Given the description of an element on the screen output the (x, y) to click on. 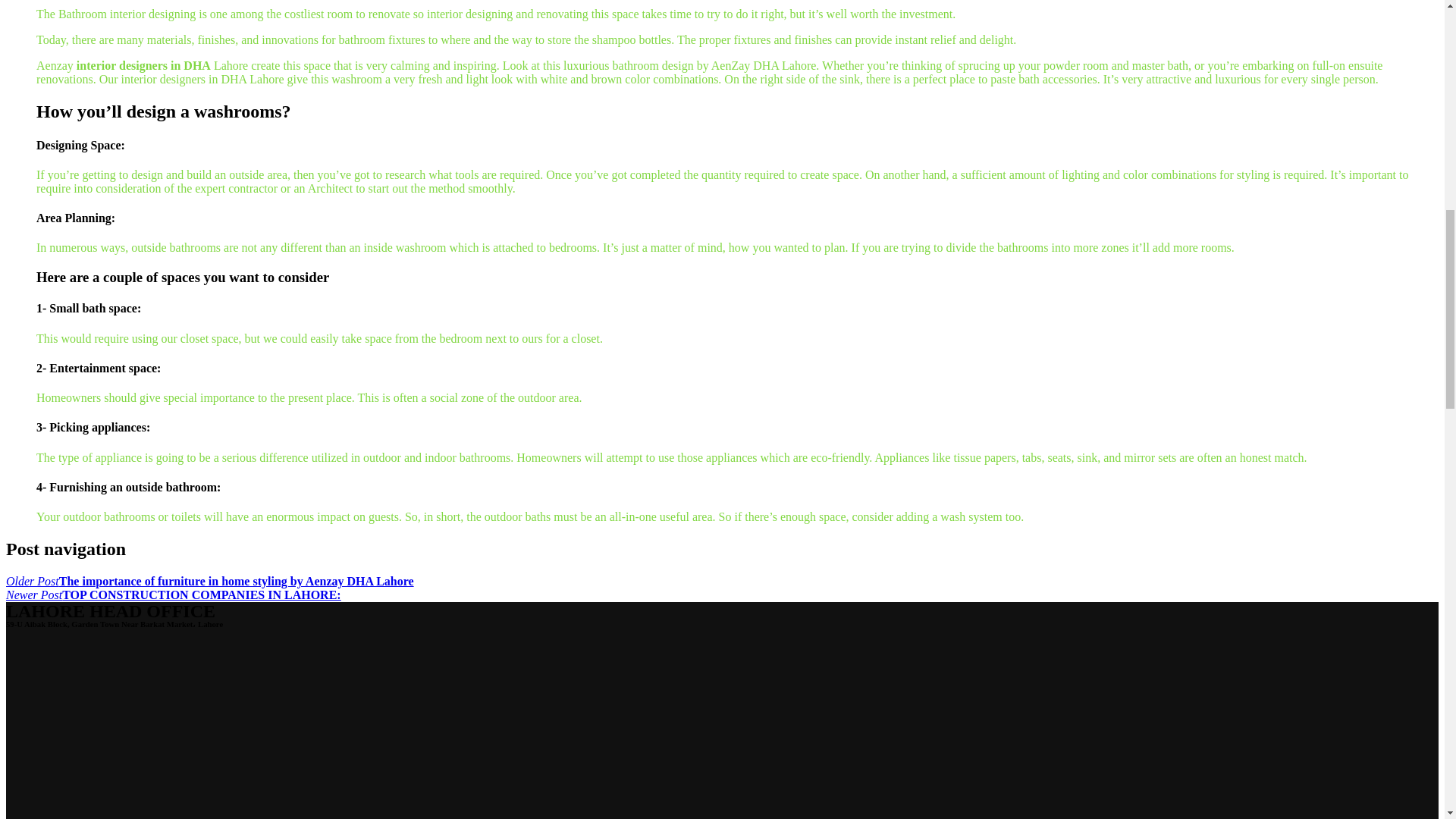
Newer PostTOP CONSTRUCTION COMPANIES IN LAHORE: (172, 594)
